Given the description of an element on the screen output the (x, y) to click on. 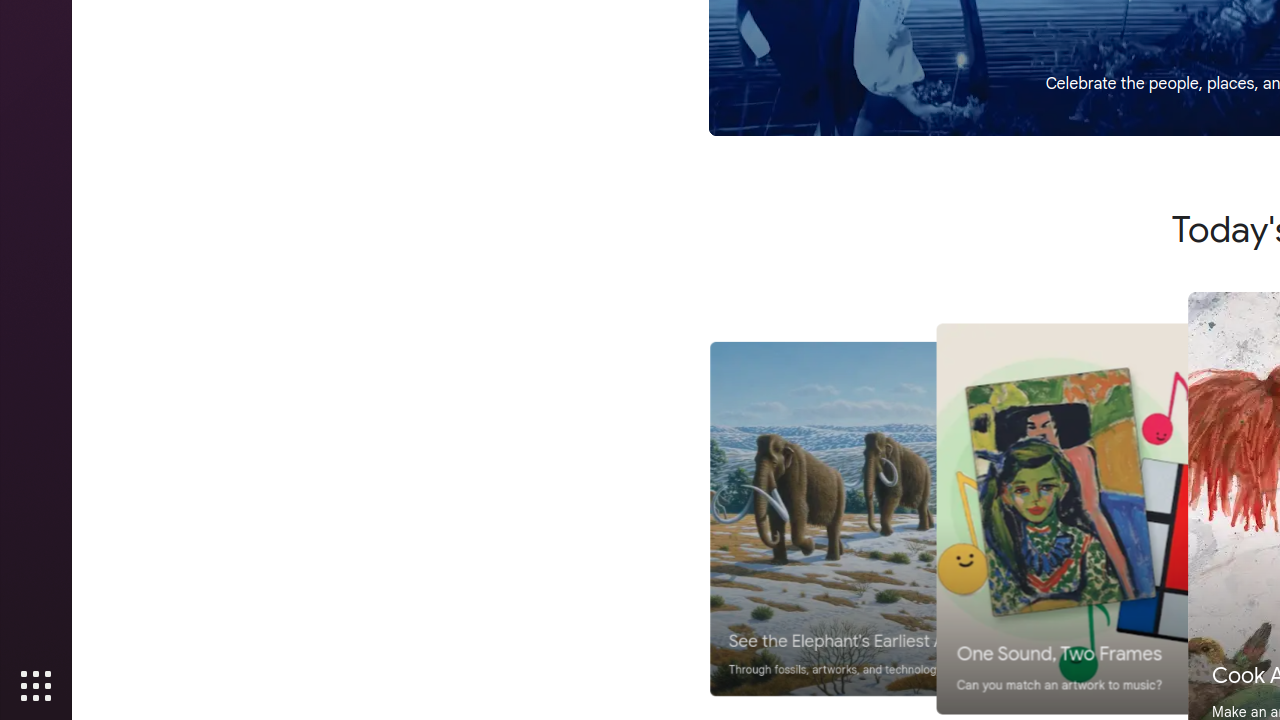
See the Elephant's Earliest Ancestors Through fossils, artworks, and technology Element type: link (892, 519)
Show Applications Element type: toggle-button (36, 686)
